Given the description of an element on the screen output the (x, y) to click on. 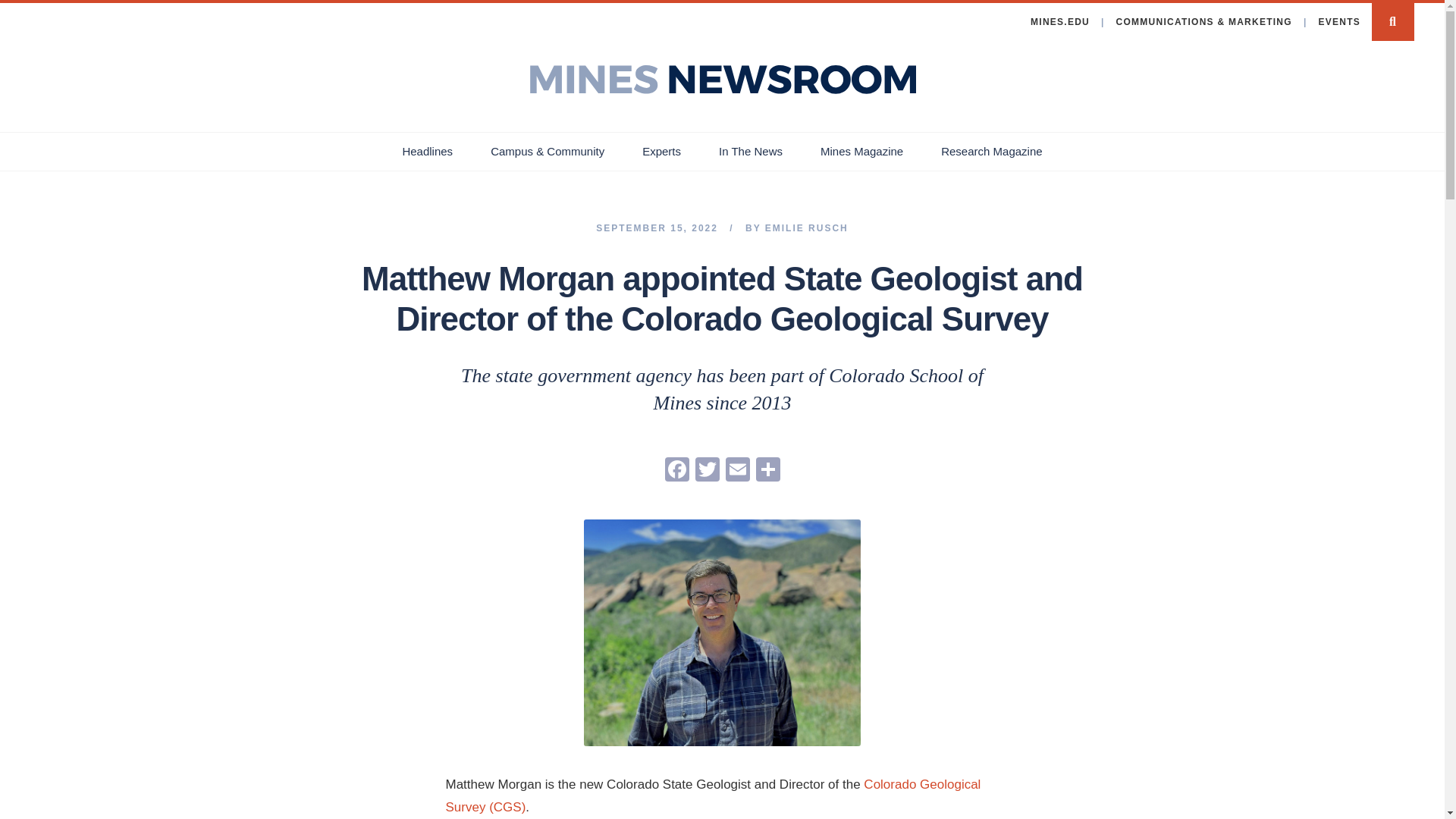
Apply (23, 12)
EVENTS (1337, 22)
SEARCH (1392, 21)
Mines Newsroom (722, 79)
In The News (751, 151)
MINES.EDU (1065, 22)
Headlines (426, 151)
Experts (661, 151)
Mines Magazine (861, 151)
